Given the description of an element on the screen output the (x, y) to click on. 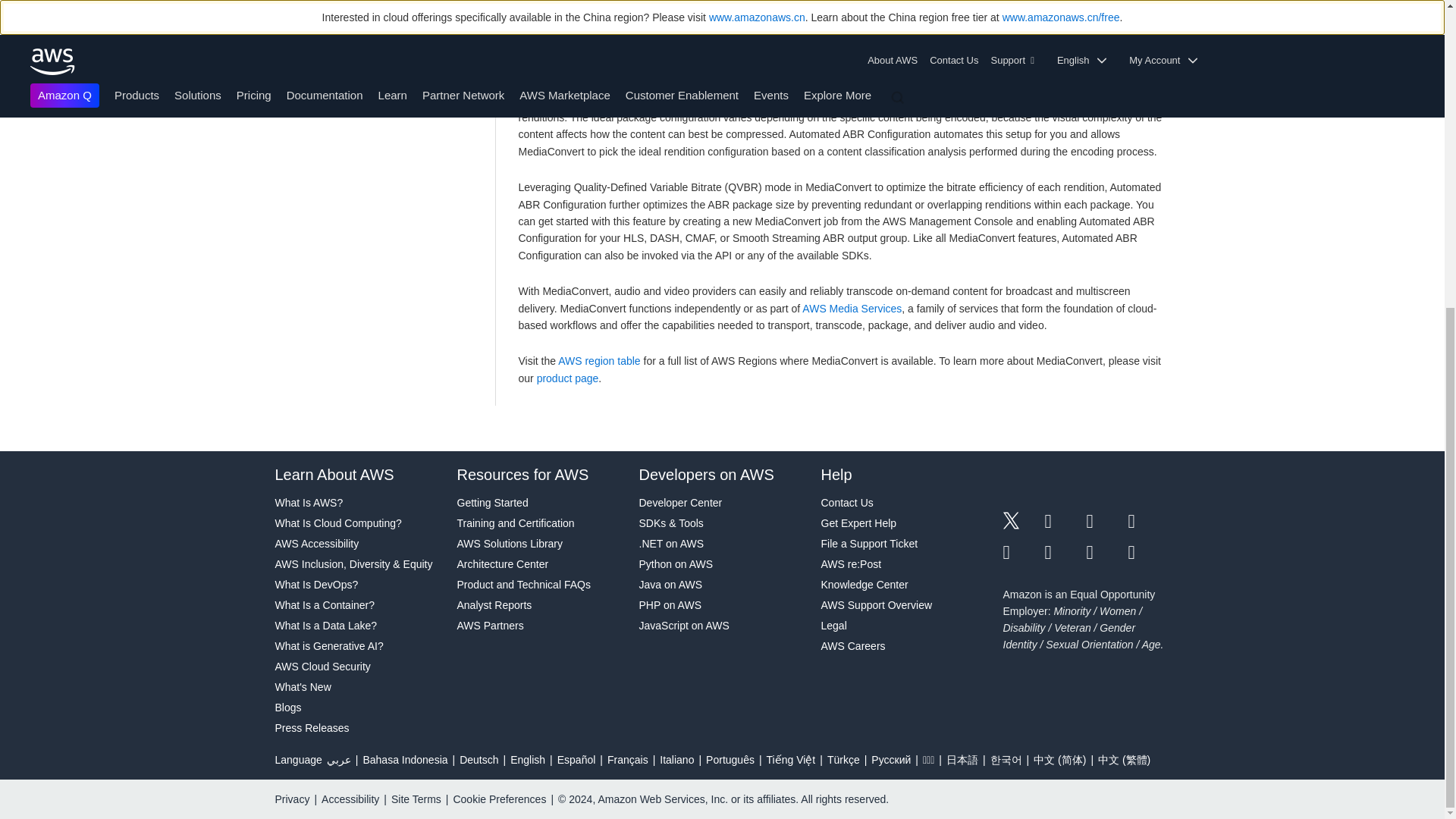
Twitch (1023, 552)
Facebook (1065, 522)
Linkedin (1106, 522)
Instagram (1149, 522)
Podcast (1106, 552)
Twitter (1023, 522)
Press Releases (358, 727)
YouTube (1065, 552)
